Given the description of an element on the screen output the (x, y) to click on. 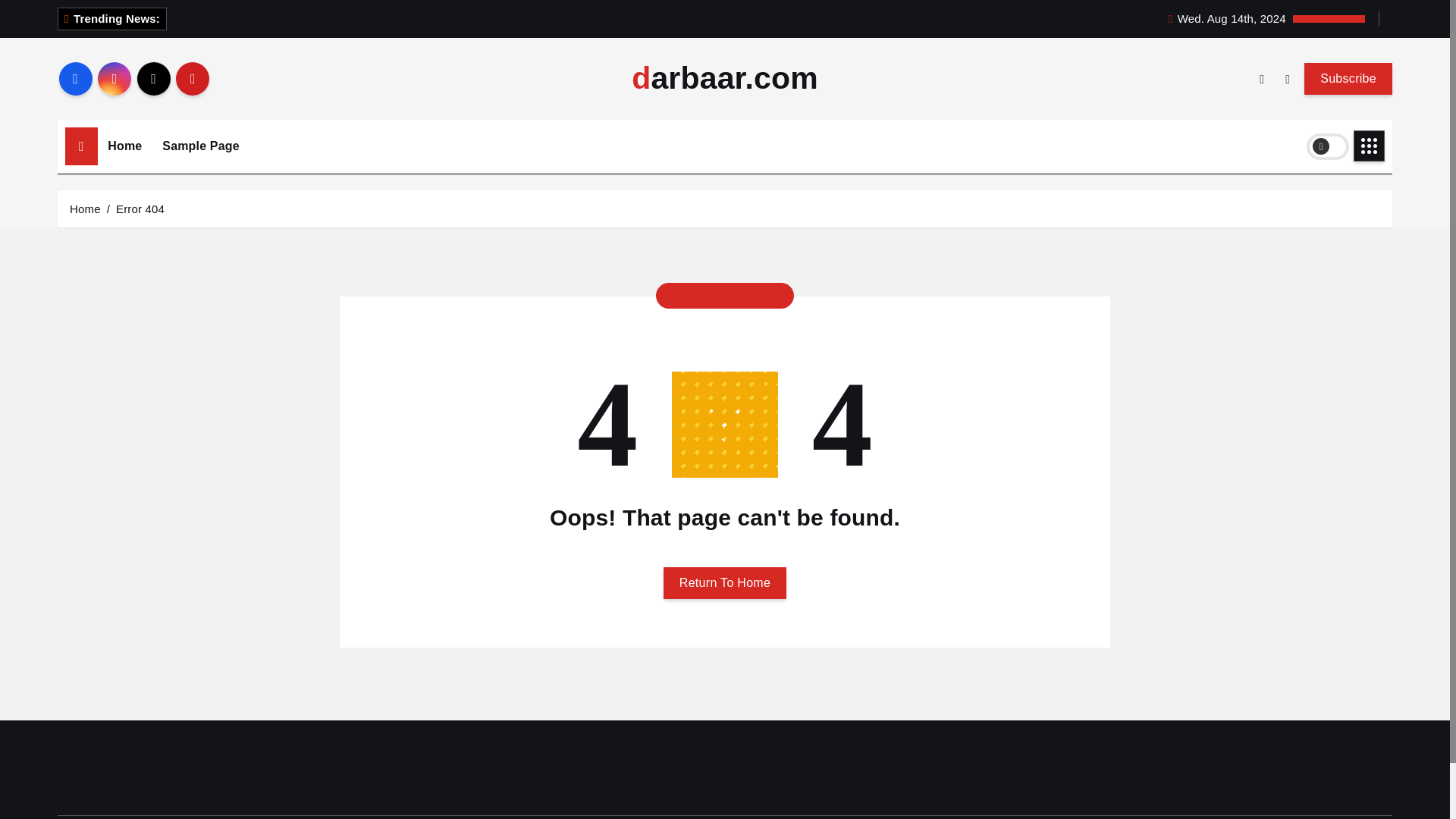
Home (124, 146)
Error 404 (140, 207)
Return To Home (724, 582)
Sample Page (200, 146)
Home (124, 146)
Subscribe (1347, 78)
darbaar.com (724, 78)
Home (84, 207)
